Given the description of an element on the screen output the (x, y) to click on. 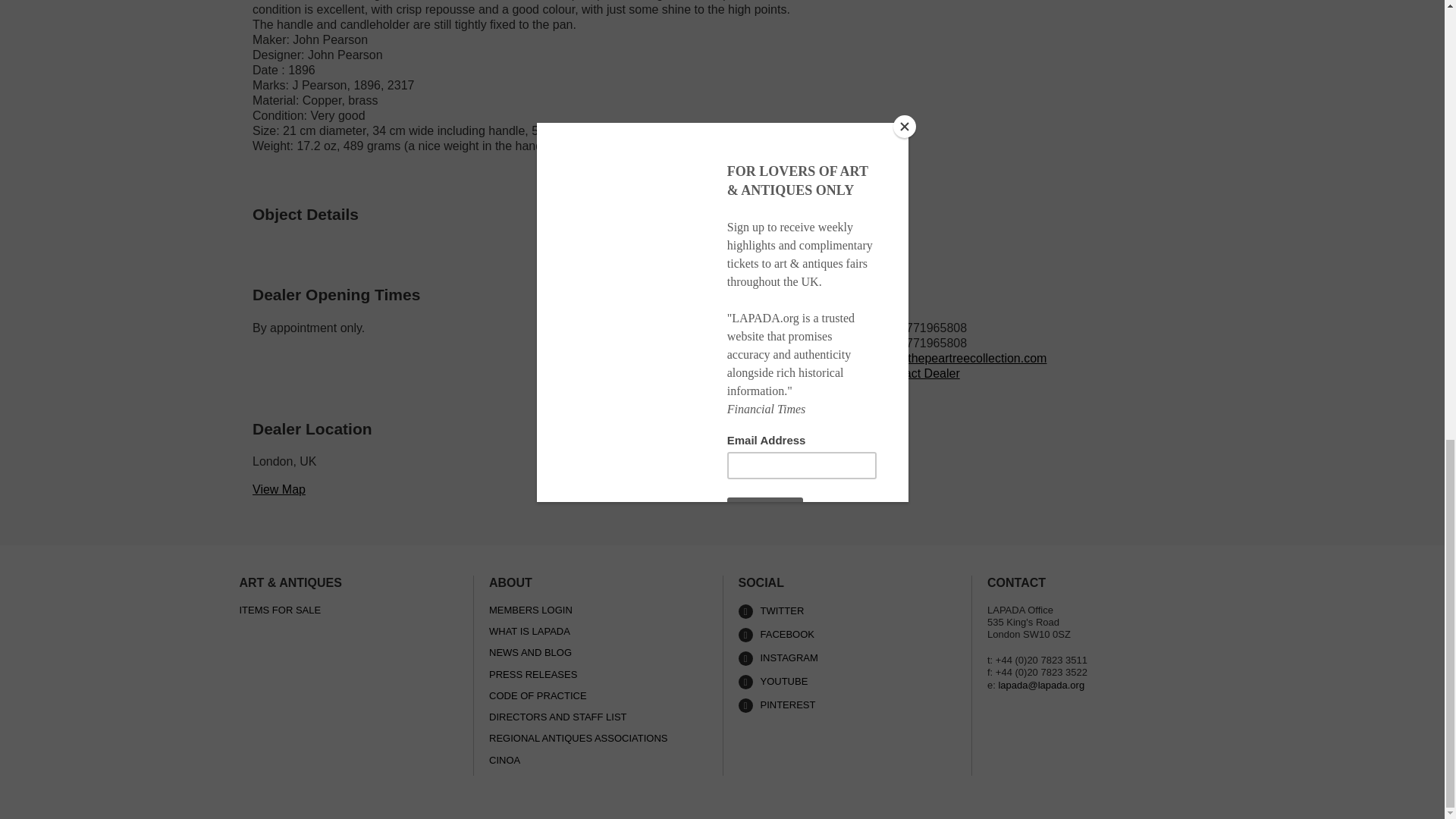
Like us on Facebook (847, 635)
Follow us on Twitter (847, 611)
Learn more about LAPADA (847, 681)
